Given the description of an element on the screen output the (x, y) to click on. 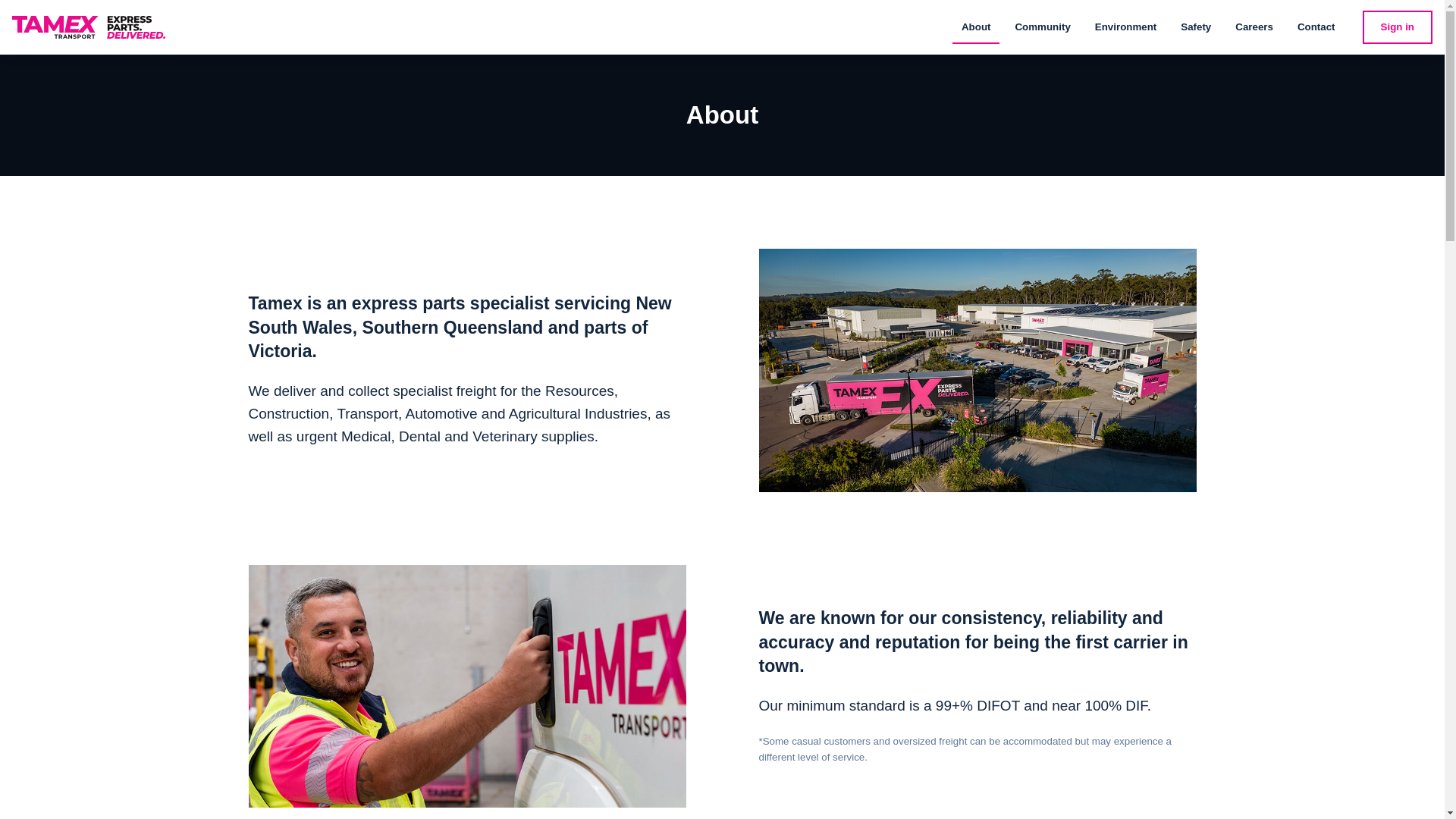
Environment (1126, 27)
Contact Tamex (1315, 27)
Contact (1315, 27)
Tamex Sign in (1397, 27)
Sign in (1397, 27)
Community (1042, 27)
About Tamex (976, 27)
Community (1042, 27)
Environment (1126, 27)
Safety (1196, 27)
